Given the description of an element on the screen output the (x, y) to click on. 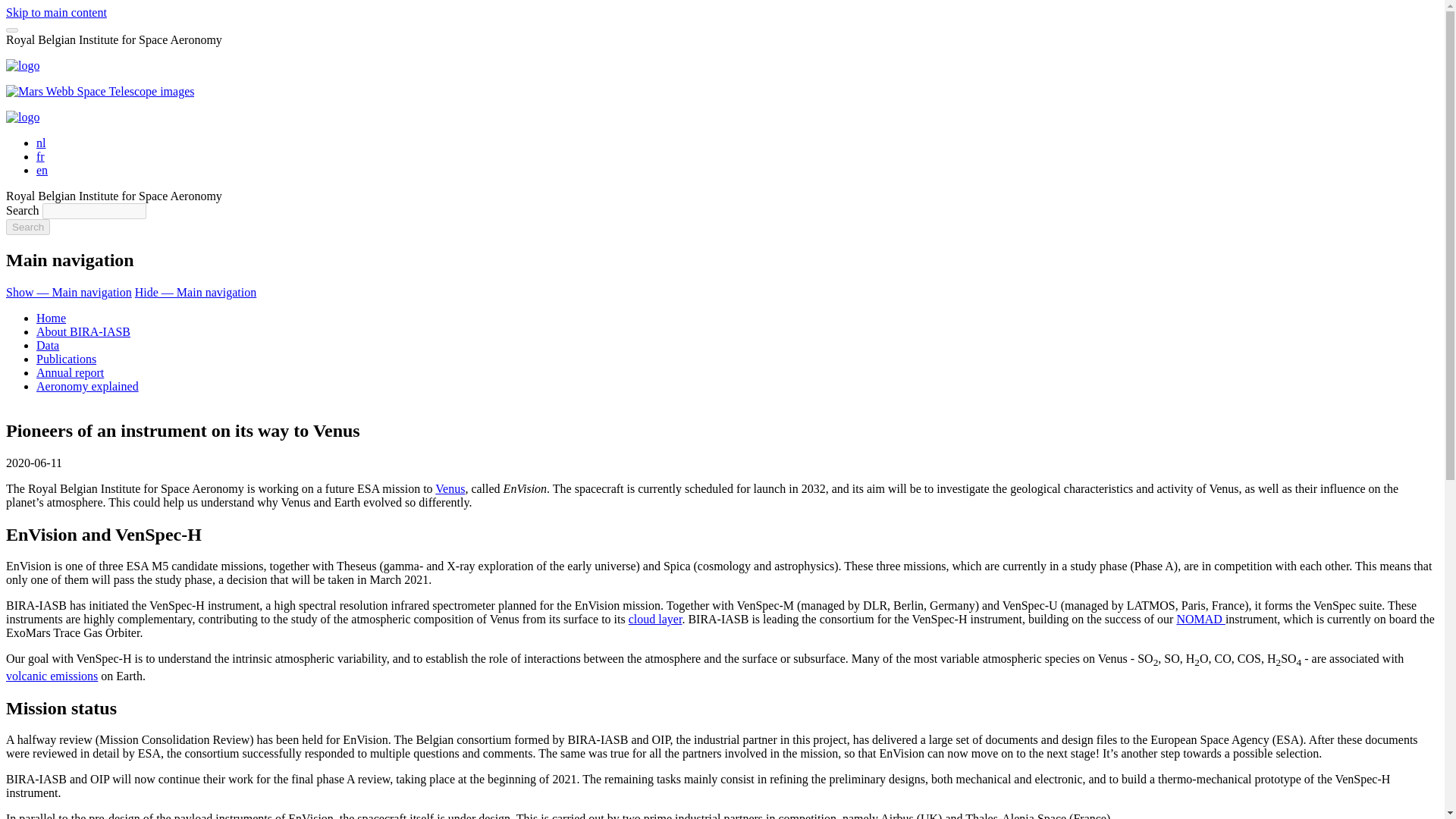
NOMAD (1200, 618)
Aeronomy explained (87, 386)
volcanic emissions (51, 675)
Publications (66, 358)
Publications (66, 358)
Educational events and ressources (87, 386)
Search (27, 227)
About BIRA-IASB (83, 331)
Data (47, 345)
Annual report (69, 372)
Search (27, 227)
cloud layer (655, 618)
Venus (449, 488)
Enter the terms you wish to search for. (94, 211)
Skip to main content (55, 11)
